Given the description of an element on the screen output the (x, y) to click on. 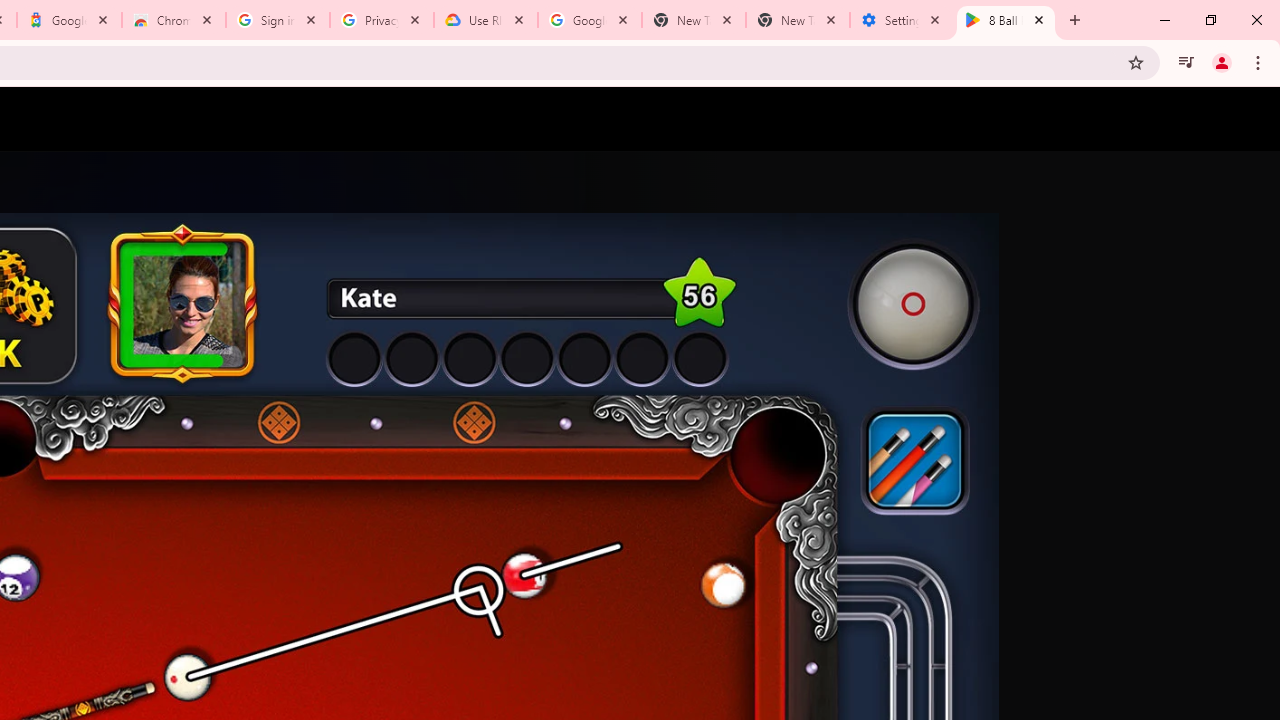
8 Ball Pool - Apps on Google Play (1005, 20)
Settings - System (901, 20)
Help Center (1197, 119)
Google (68, 20)
Chrome Web Store - Color themes by Chrome (173, 20)
